Given the description of an element on the screen output the (x, y) to click on. 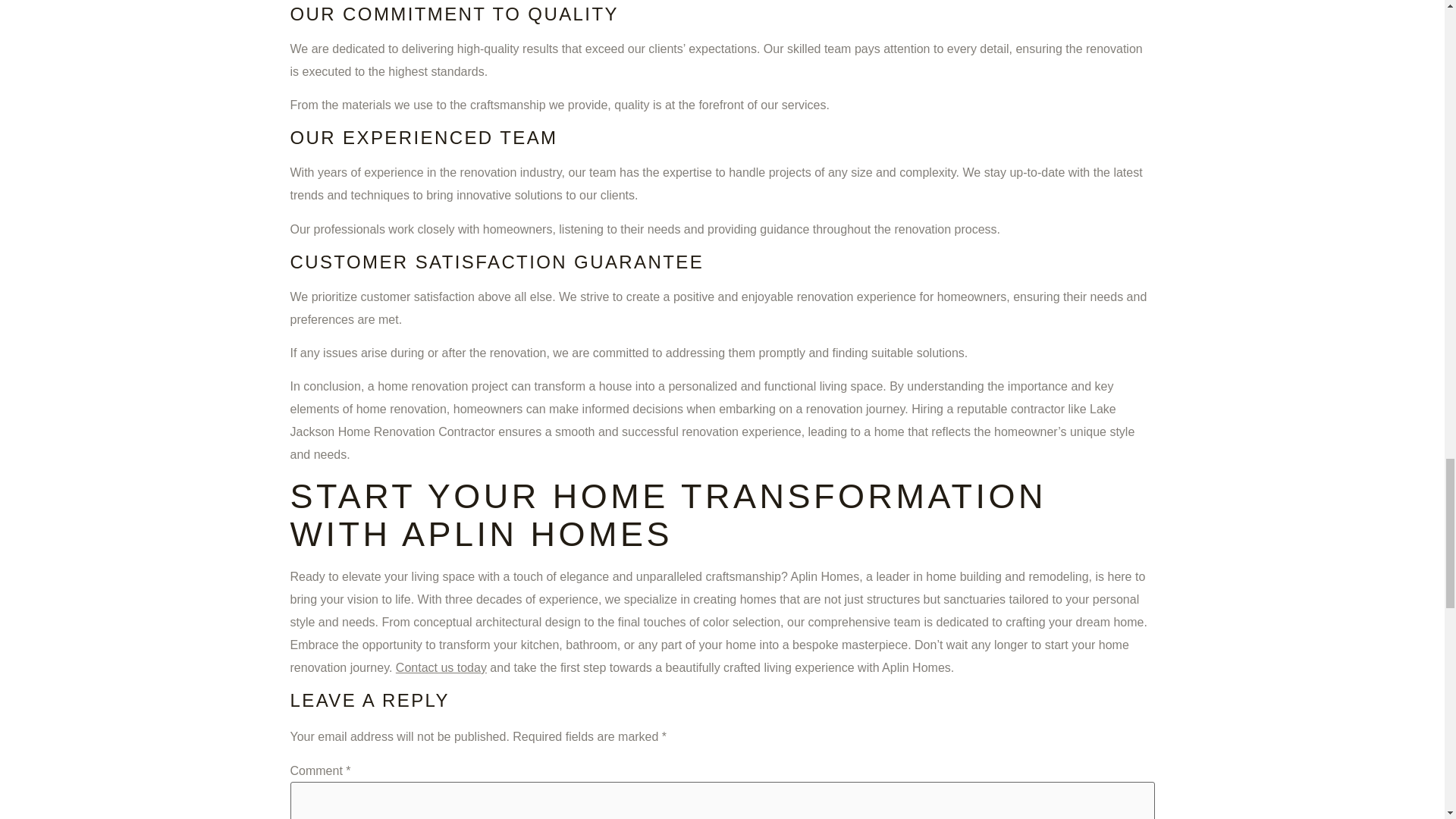
Contact us today (441, 667)
